Given the description of an element on the screen output the (x, y) to click on. 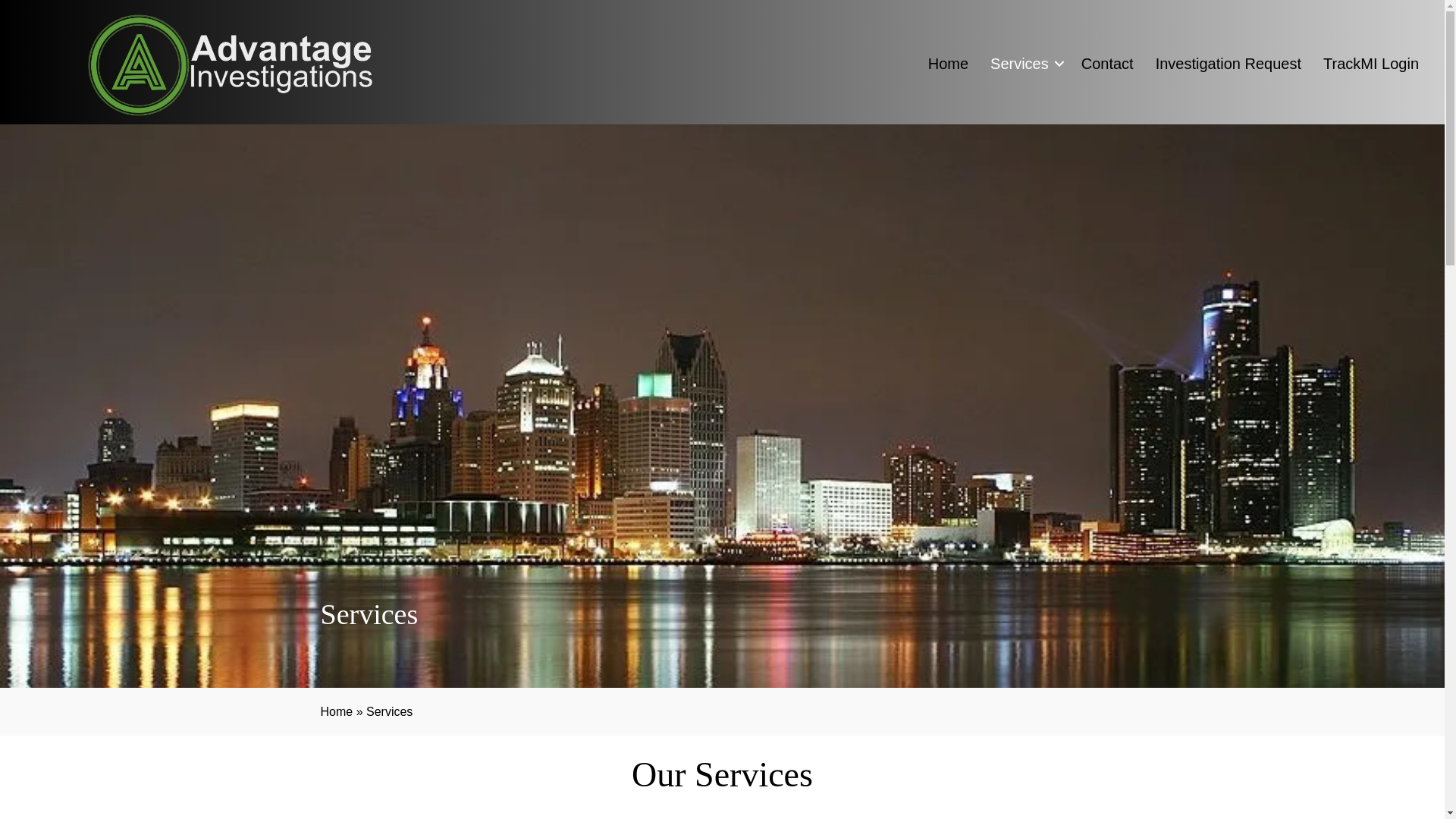
Investigation Request (1227, 63)
TrackMI Login (1371, 63)
Contact (1107, 63)
Services (1024, 63)
Home (947, 63)
Home (336, 711)
